Given the description of an element on the screen output the (x, y) to click on. 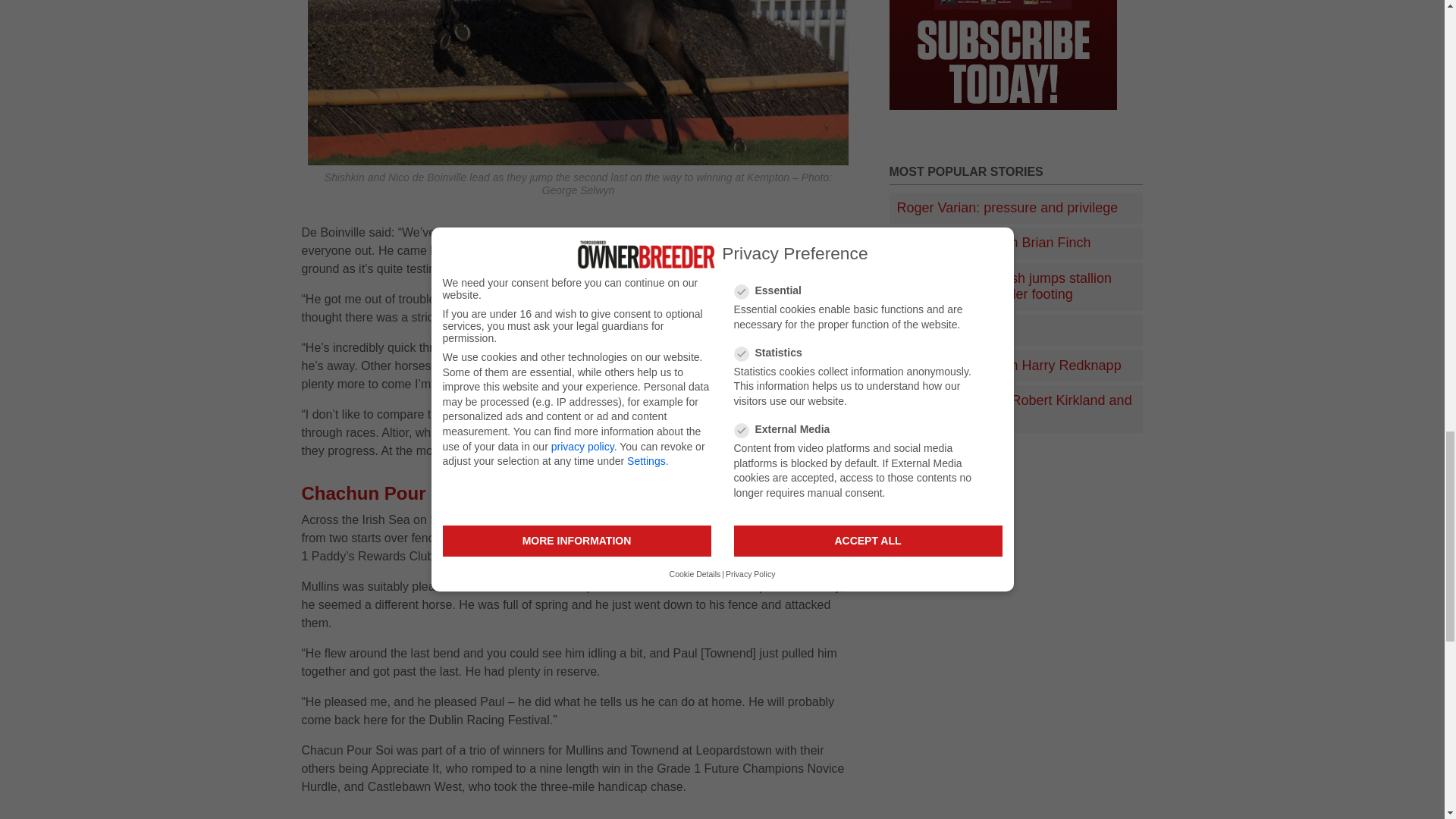
The Finish Line with Brian Finch (1015, 243)
Roger Varian: pressure and privilege (1015, 208)
